Given the description of an element on the screen output the (x, y) to click on. 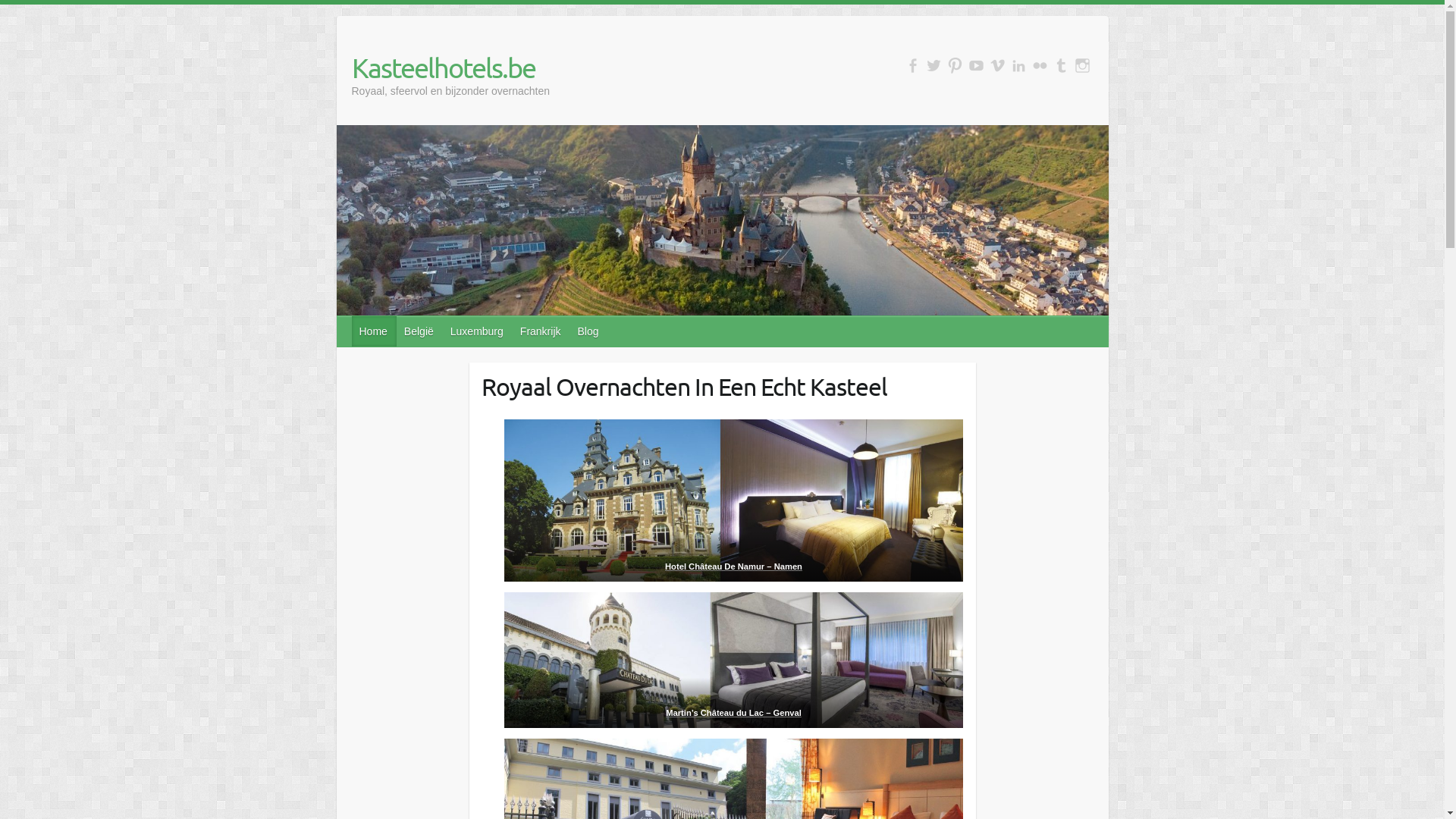
Frankrijk Element type: text (541, 331)
Kasteelhotels.be op Twitter Element type: hover (933, 65)
Blog Element type: text (589, 331)
Kasteelhotels.be op Pinterest Element type: hover (954, 65)
Kasteelhotels.be op Vimeo Element type: hover (997, 65)
Kasteelhotels.be op Tumblr Element type: hover (1061, 65)
Kasteelhotels.be op Instagram Element type: hover (1082, 65)
Kasteelhotels.be op Flickr Element type: hover (1039, 65)
Luxemburg Element type: text (477, 331)
Kasteelhotels.be op Facebook Element type: hover (912, 65)
Kasteelhotels.be op LinkedIn Element type: hover (1018, 65)
Kasteelhotels.be op YouTube Element type: hover (976, 65)
Home Element type: text (373, 331)
Kasteelhotels.be Element type: text (450, 67)
